Given the description of an element on the screen output the (x, y) to click on. 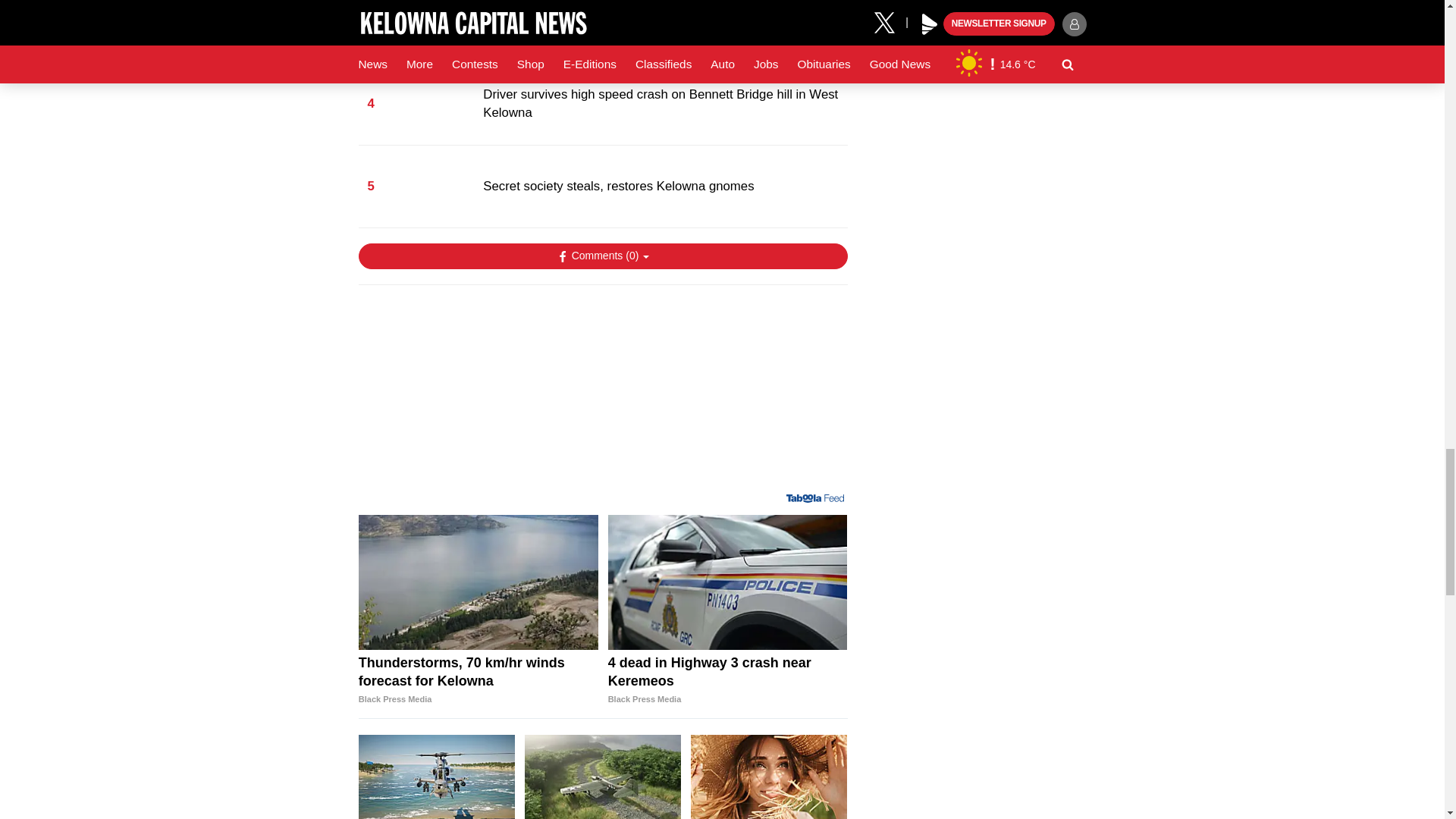
3rd party ad content (602, 394)
4 dead in Highway 3 crash near Keremeos (727, 582)
Show Comments (602, 256)
